Given the description of an element on the screen output the (x, y) to click on. 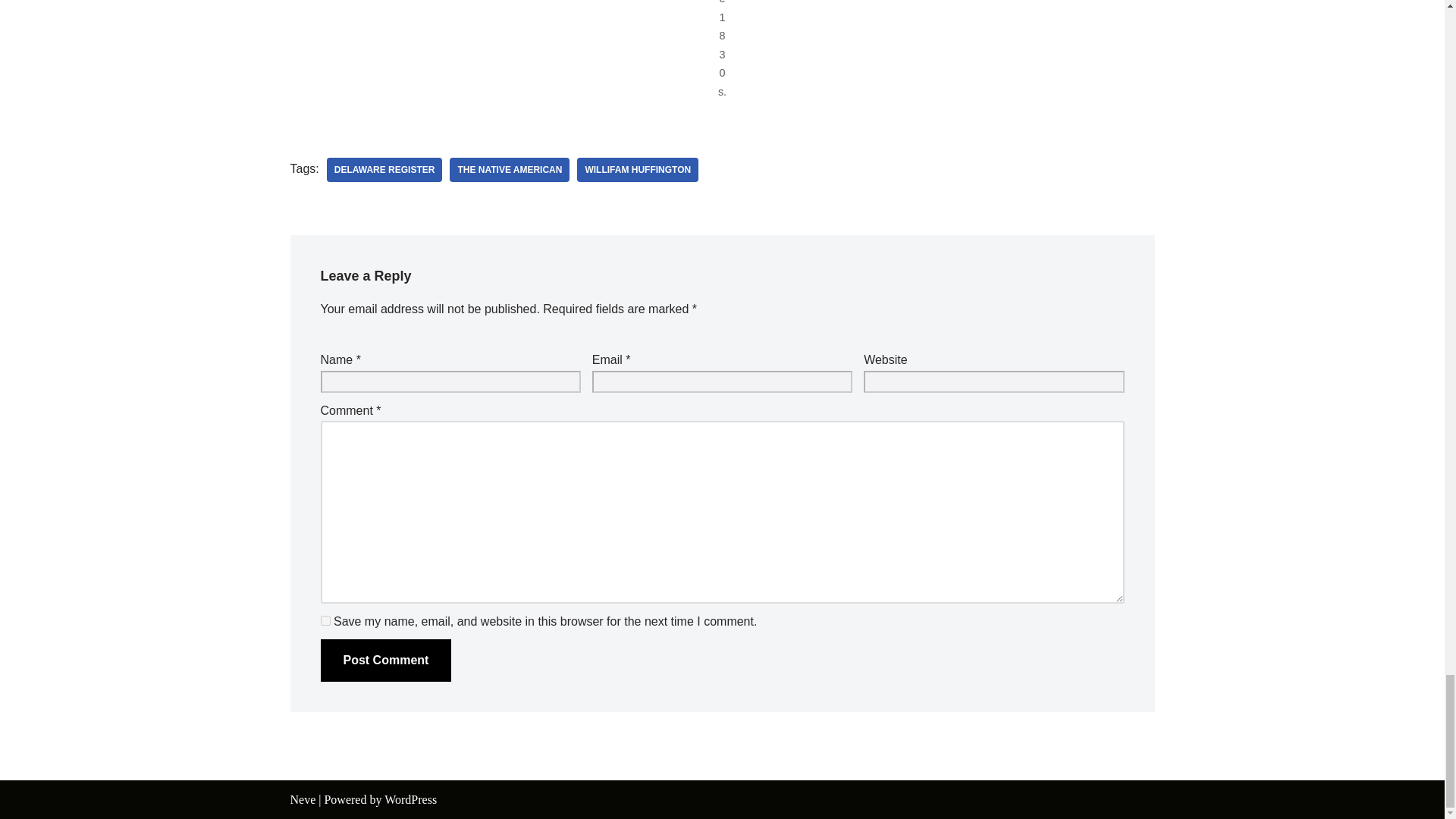
Post Comment (385, 660)
Post Comment (385, 660)
Neve (302, 799)
THE NATIVE AMERICAN (509, 169)
WILLIFAM HUFFINGTON (637, 169)
WordPress (410, 799)
yes (325, 620)
DELAWARE REGISTER (384, 169)
willifam huffington (637, 169)
the native american (509, 169)
delaware register (384, 169)
